Given the description of an element on the screen output the (x, y) to click on. 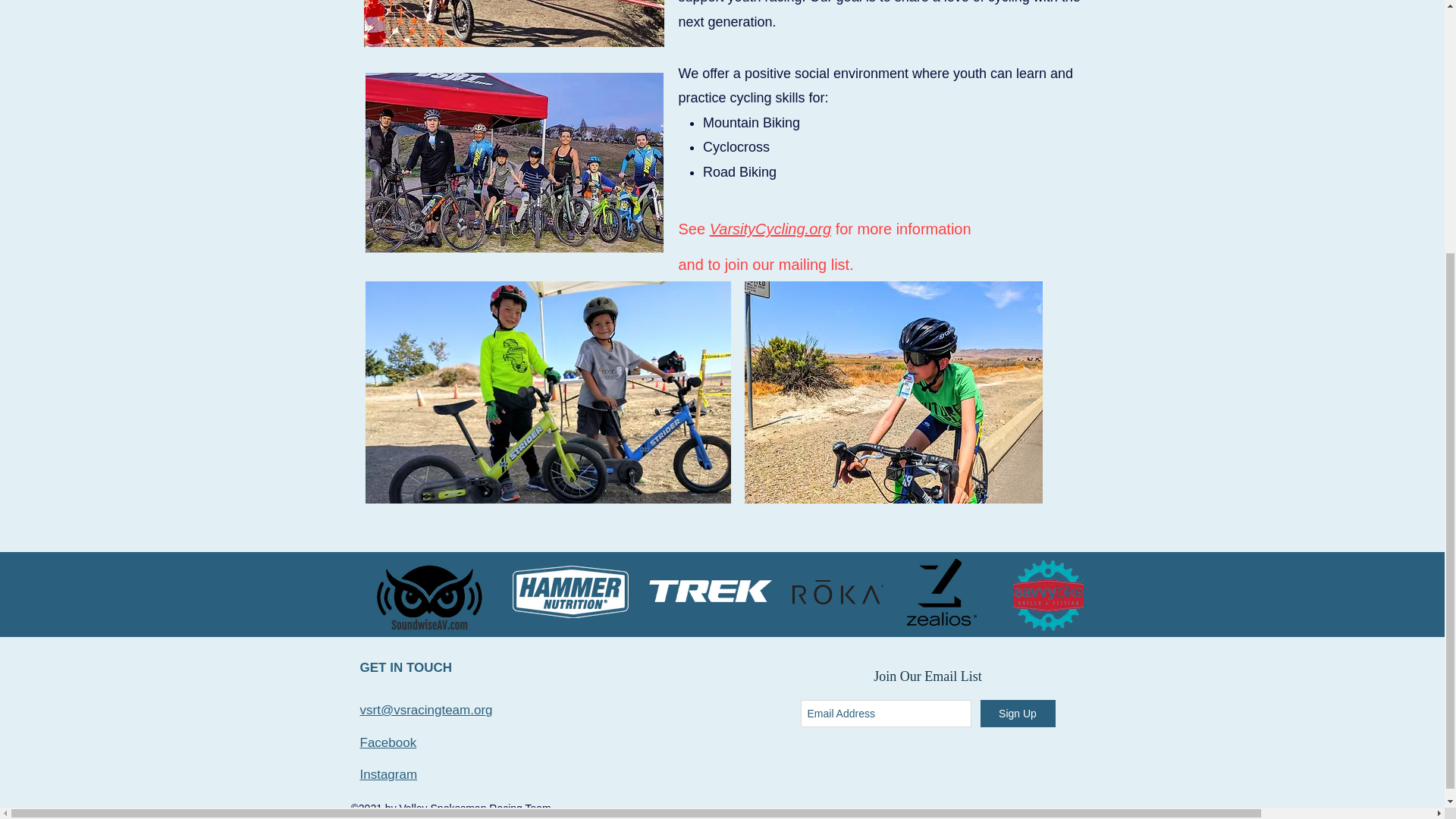
MilesM.jpg (893, 392)
VarsityCycling.org (770, 228)
Facebook (387, 742)
Instagram (387, 774)
Sign Up (1016, 713)
